Given the description of an element on the screen output the (x, y) to click on. 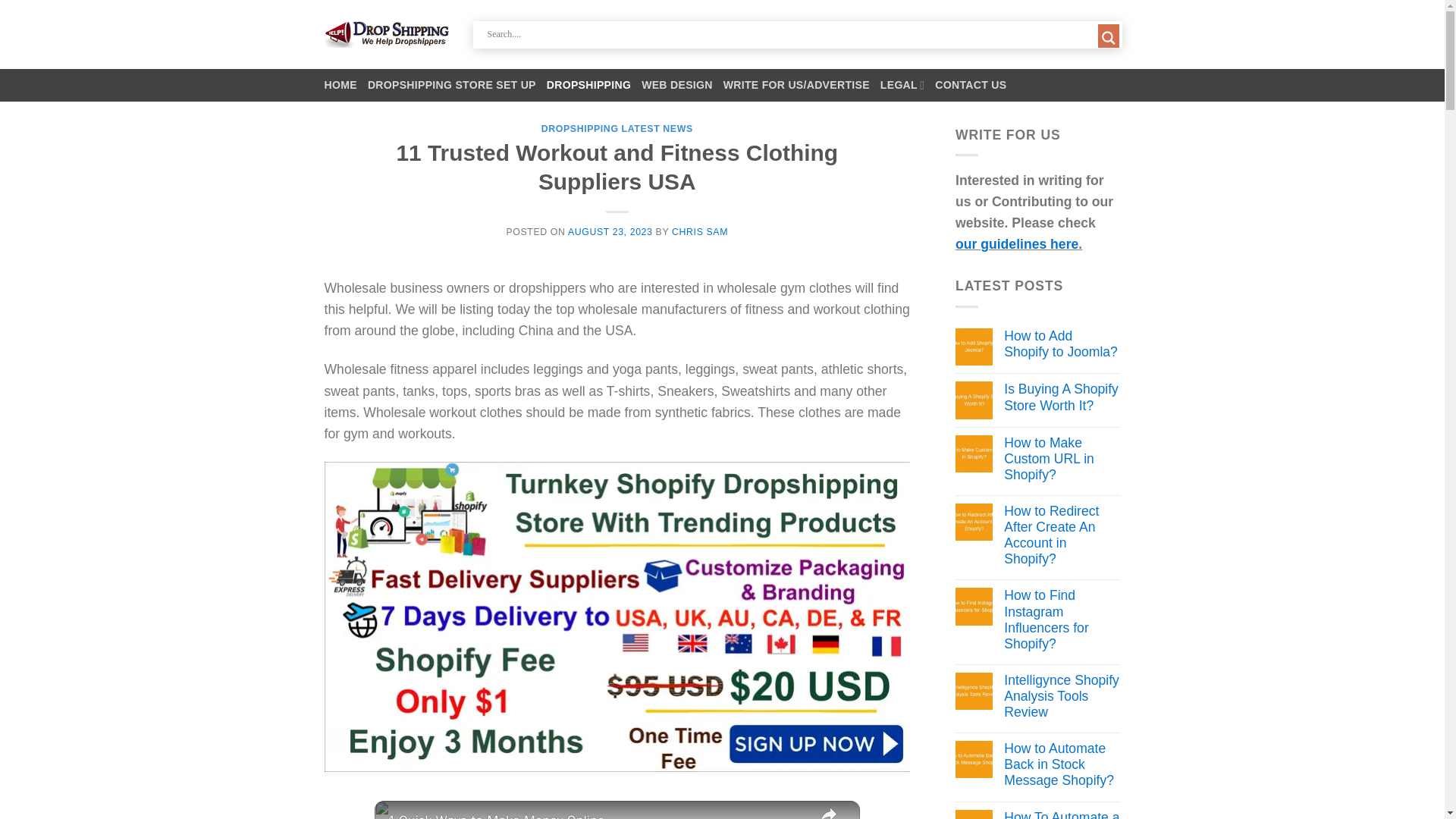
LEGAL (902, 84)
4 Quick Ways to Make Money Online (596, 814)
AUGUST 23, 2023 (609, 231)
CONTACT US (970, 84)
DROPSHIPPING LATEST NEWS (617, 128)
HOME (340, 84)
DROPSHIPPING (588, 84)
DROPSHIPPING STORE SET UP (451, 84)
WEB DESIGN (677, 84)
CHRIS SAM (699, 231)
Dropshippinghelps - We Help Dropshippers (386, 34)
Share (828, 809)
share (828, 809)
